Given the description of an element on the screen output the (x, y) to click on. 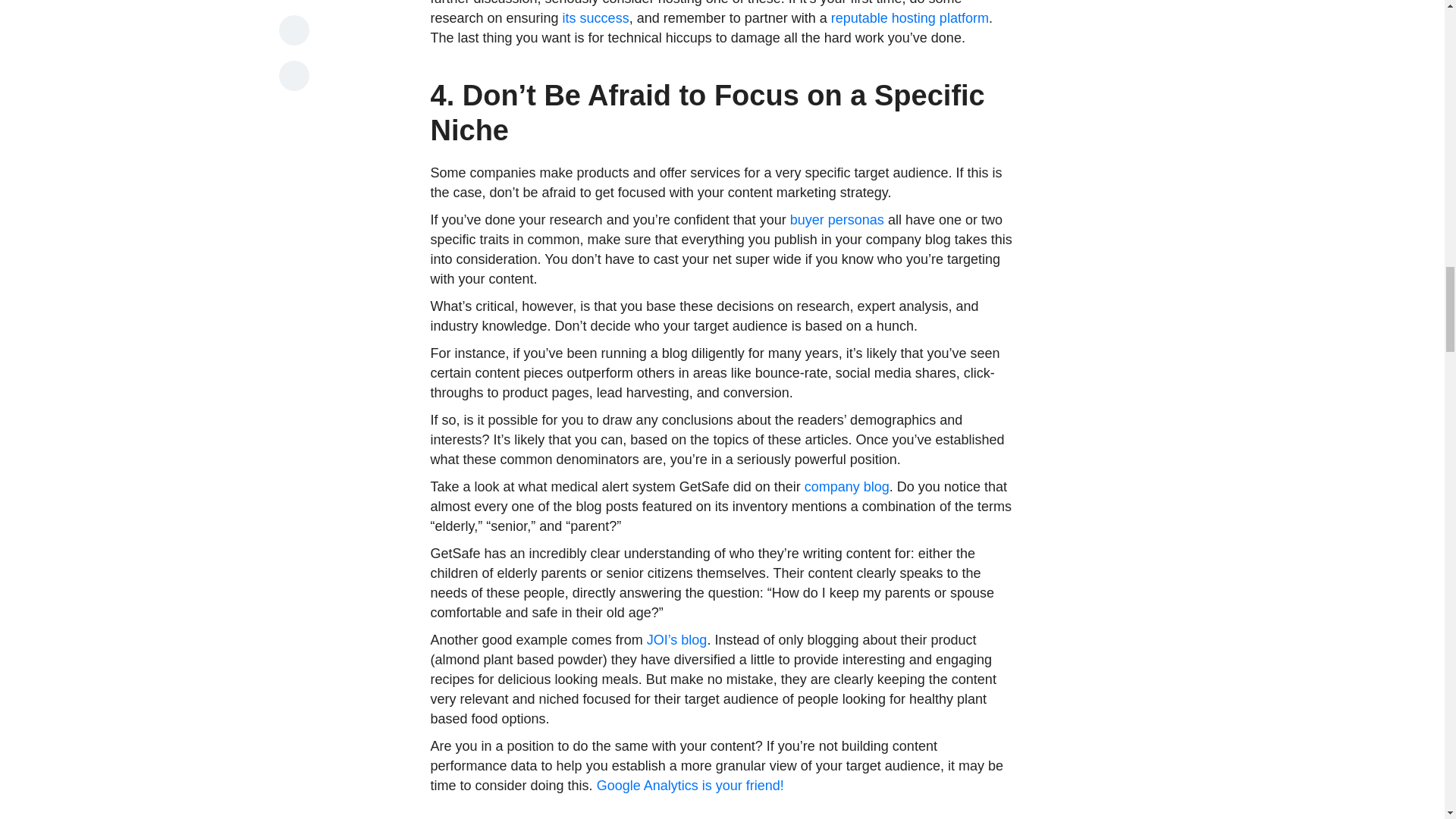
its success (595, 17)
Google Analytics is your friend! (690, 785)
company blog (847, 486)
reputable hosting platform (909, 17)
buyer personas (836, 219)
